Given the description of an element on the screen output the (x, y) to click on. 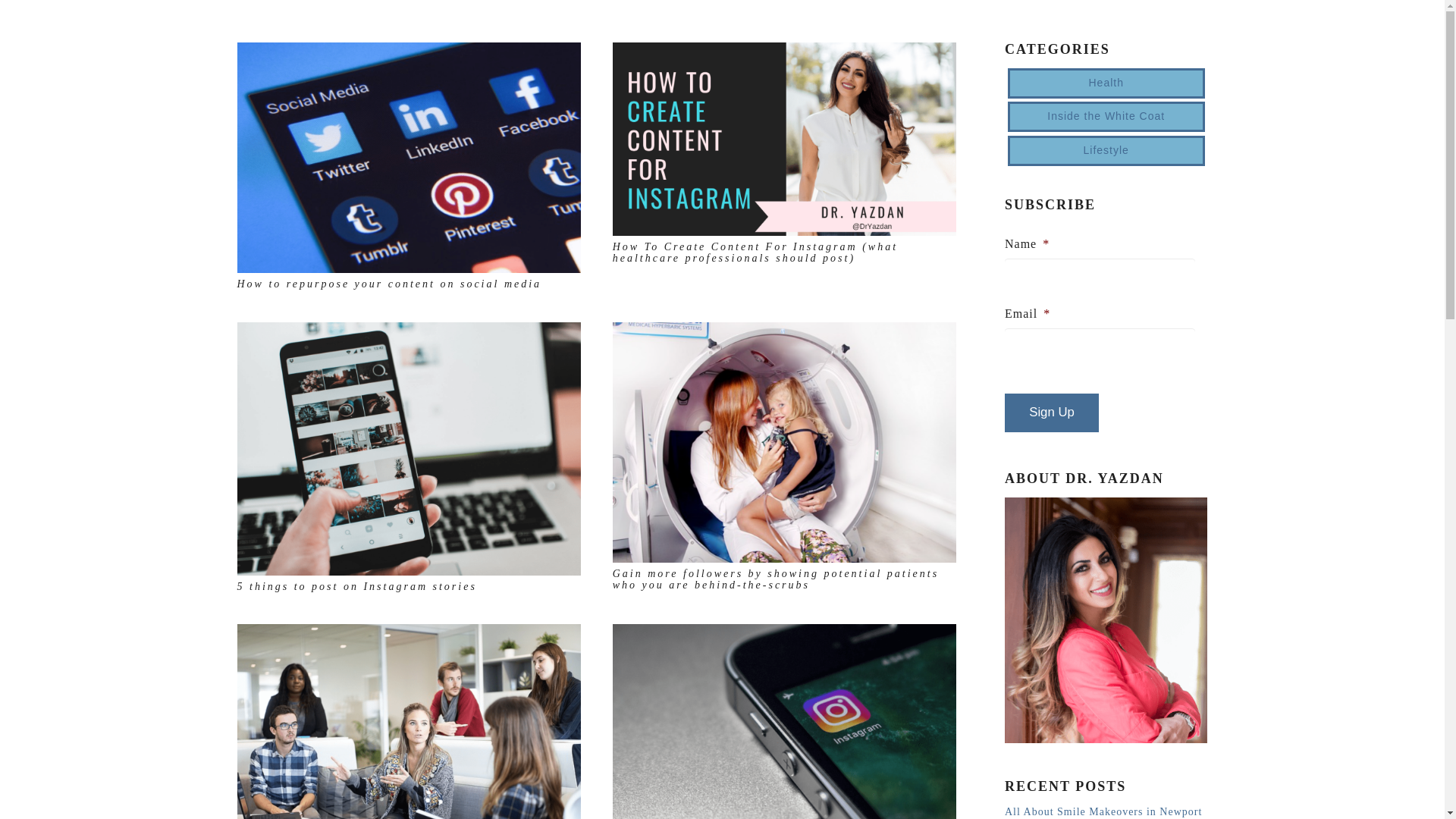
How to repurpose your content on social media (388, 283)
Sign Up (1051, 412)
Health (1106, 82)
Inside the White Coat (1106, 116)
5 things to post on Instagram stories (355, 586)
Sign Up (1051, 412)
All About Smile Makeovers in Newport Beach (1103, 812)
Lifestyle (1106, 150)
